Given the description of an element on the screen output the (x, y) to click on. 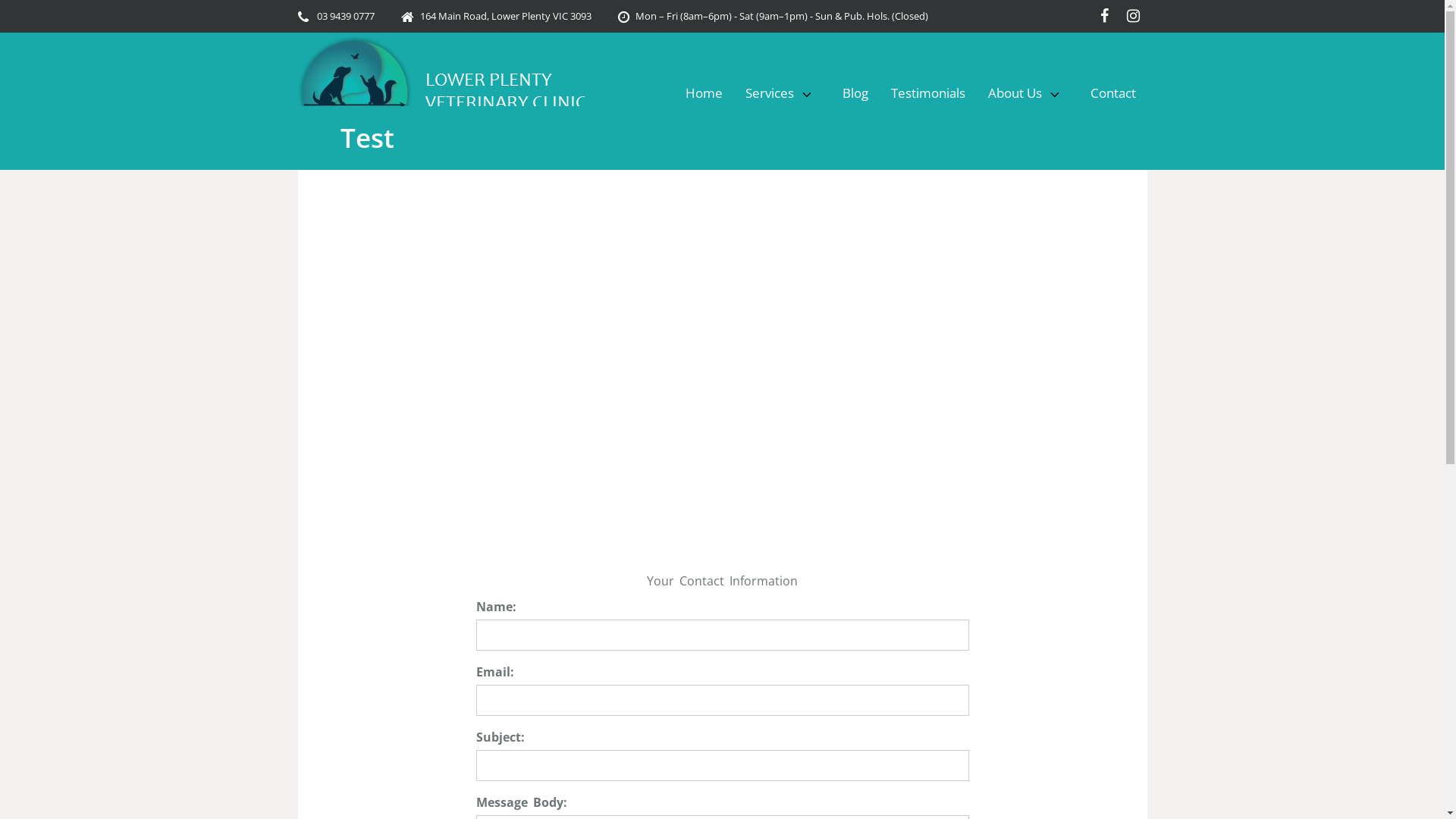
About Us Element type: text (1027, 92)
03 9439 0777 Element type: text (345, 15)
Contact Element type: text (1112, 92)
Blog Element type: text (855, 92)
Services Element type: text (782, 92)
Testimonials Element type: text (927, 92)
Home Element type: text (703, 92)
logo Element type: hover (354, 93)
